Given the description of an element on the screen output the (x, y) to click on. 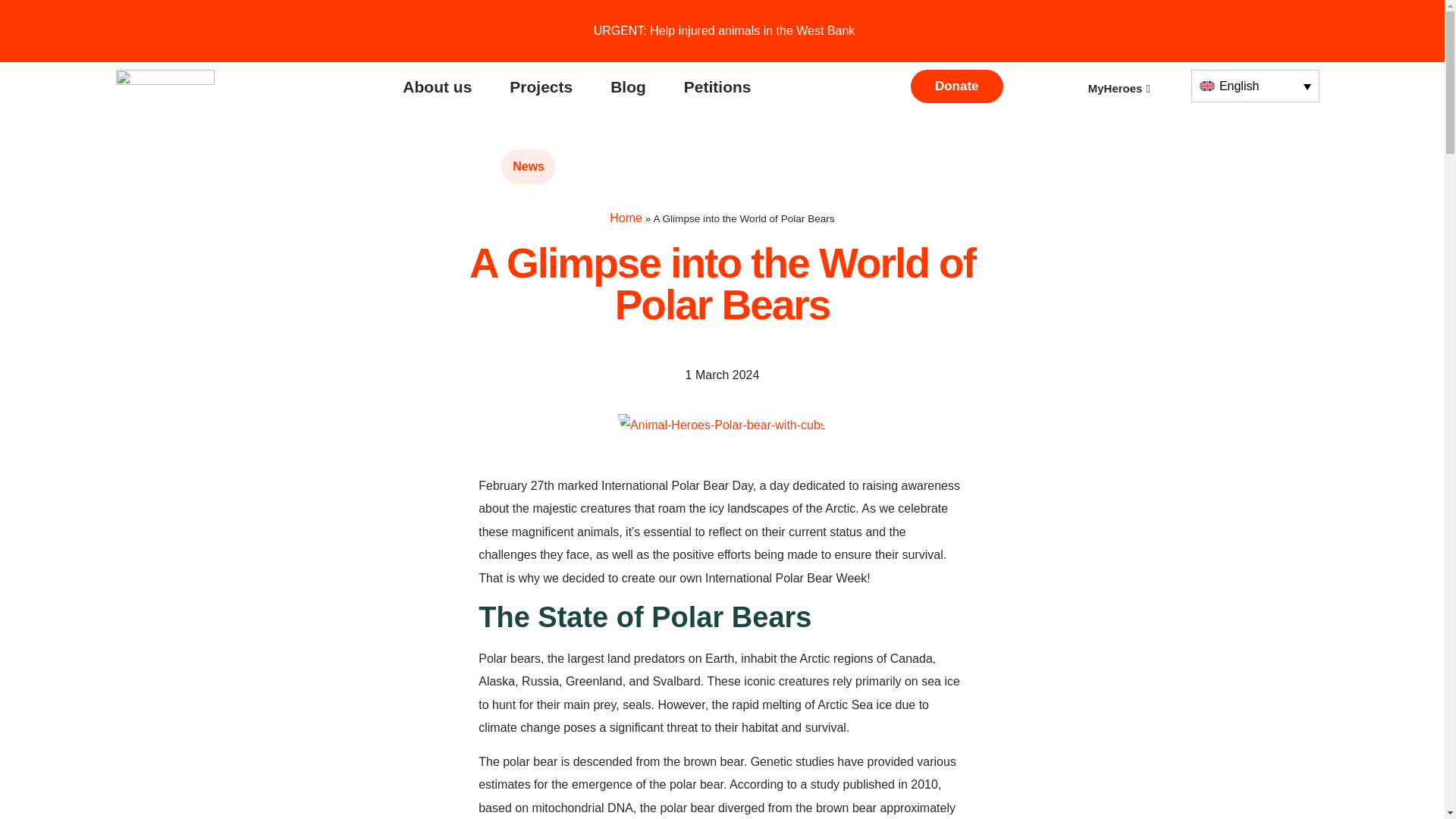
Petitions (717, 86)
URGENT: Help injured animals in the West Bank (722, 30)
About us (437, 86)
Projects (540, 86)
Blog (628, 86)
Animal-Heroes-Polar-bear-with-cubs (722, 425)
